Given the description of an element on the screen output the (x, y) to click on. 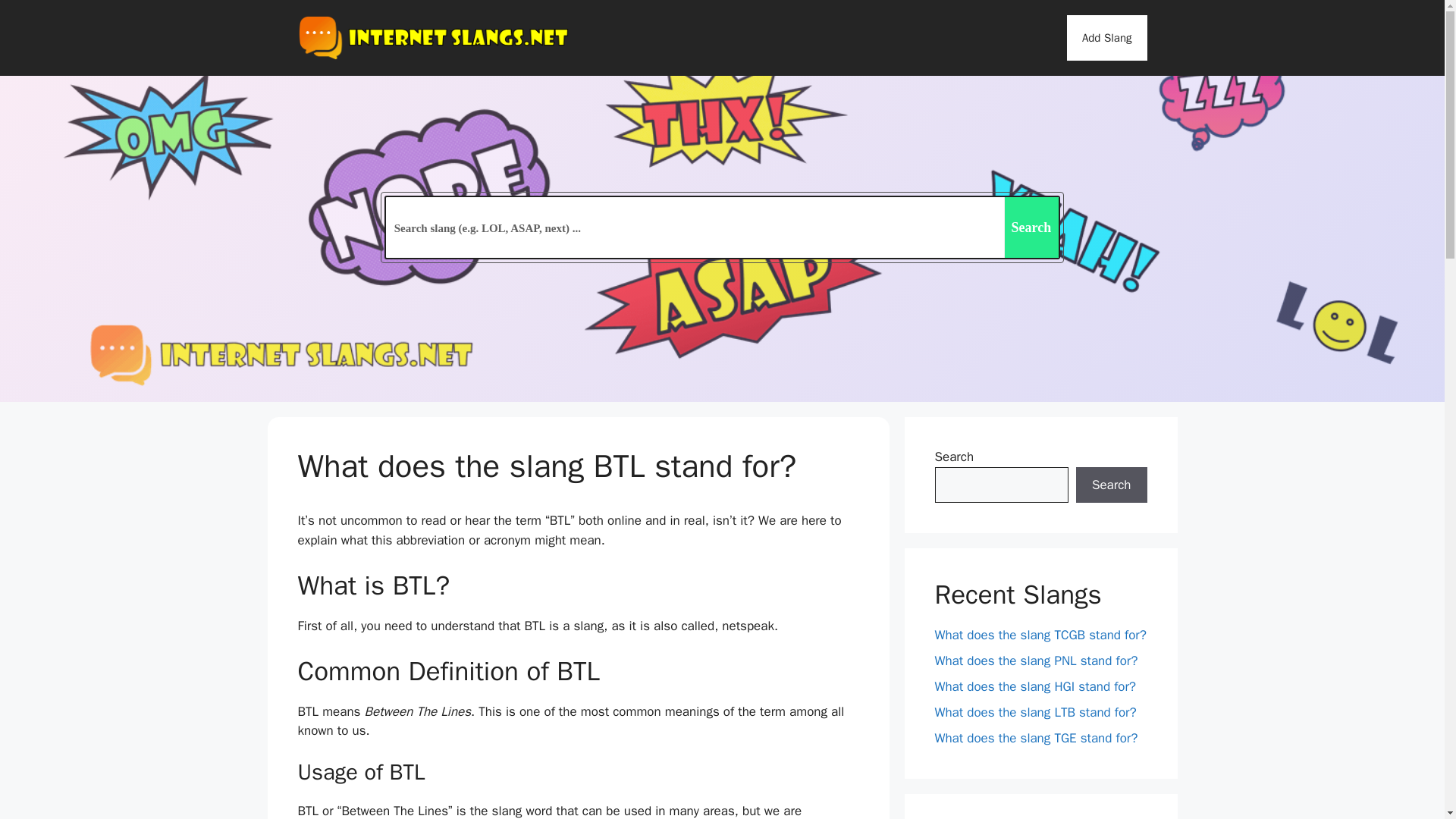
What does the slang PNL stand for? (1035, 660)
Search (1111, 484)
What does the slang TGE stand for? (1035, 738)
Add Slang (1107, 37)
What does the slang TCGB stand for? (1039, 634)
What does the slang HGI stand for? (1034, 686)
What does the slang LTB stand for? (1034, 712)
